Given the description of an element on the screen output the (x, y) to click on. 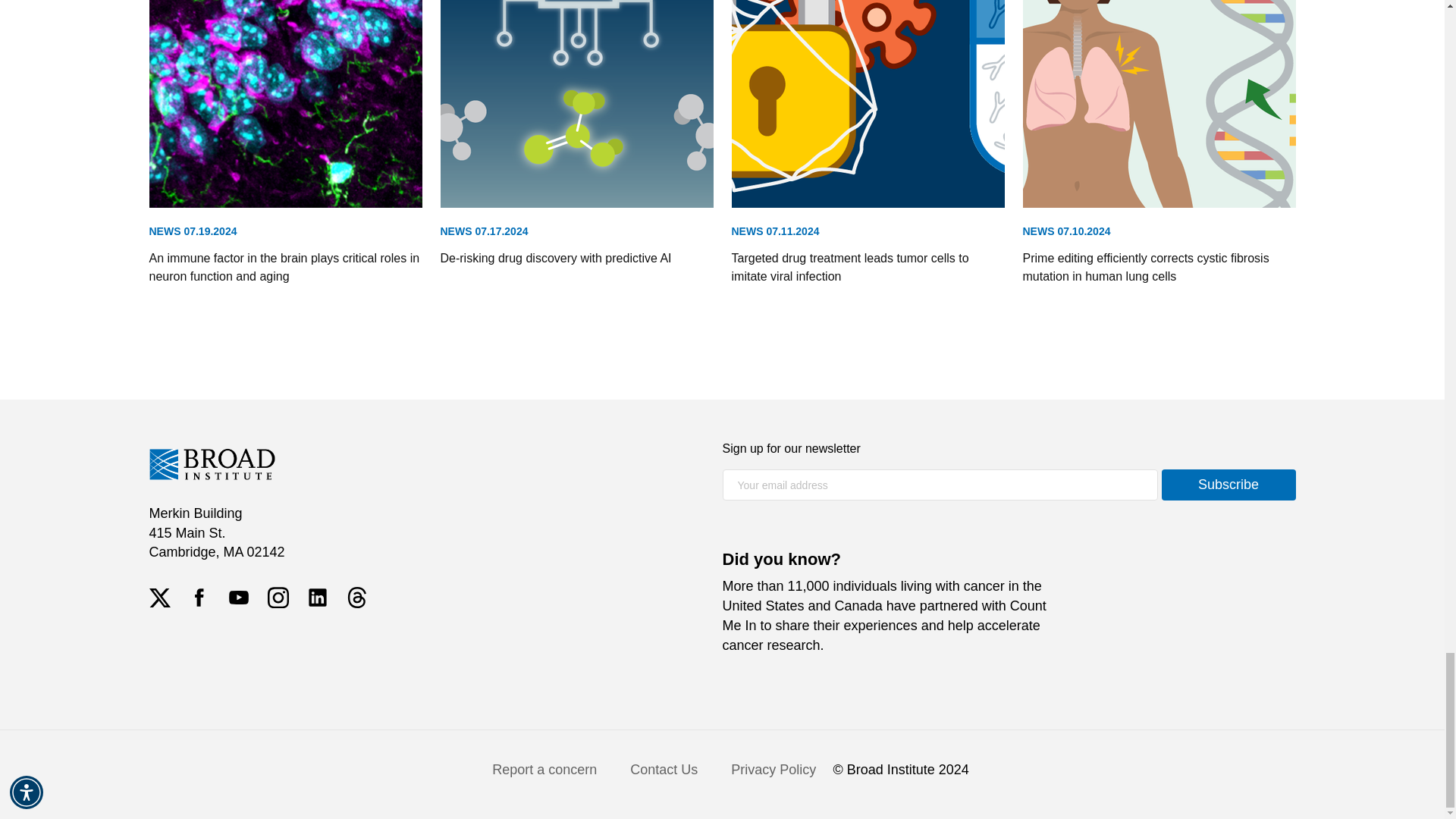
Subscribe (1228, 484)
